Given the description of an element on the screen output the (x, y) to click on. 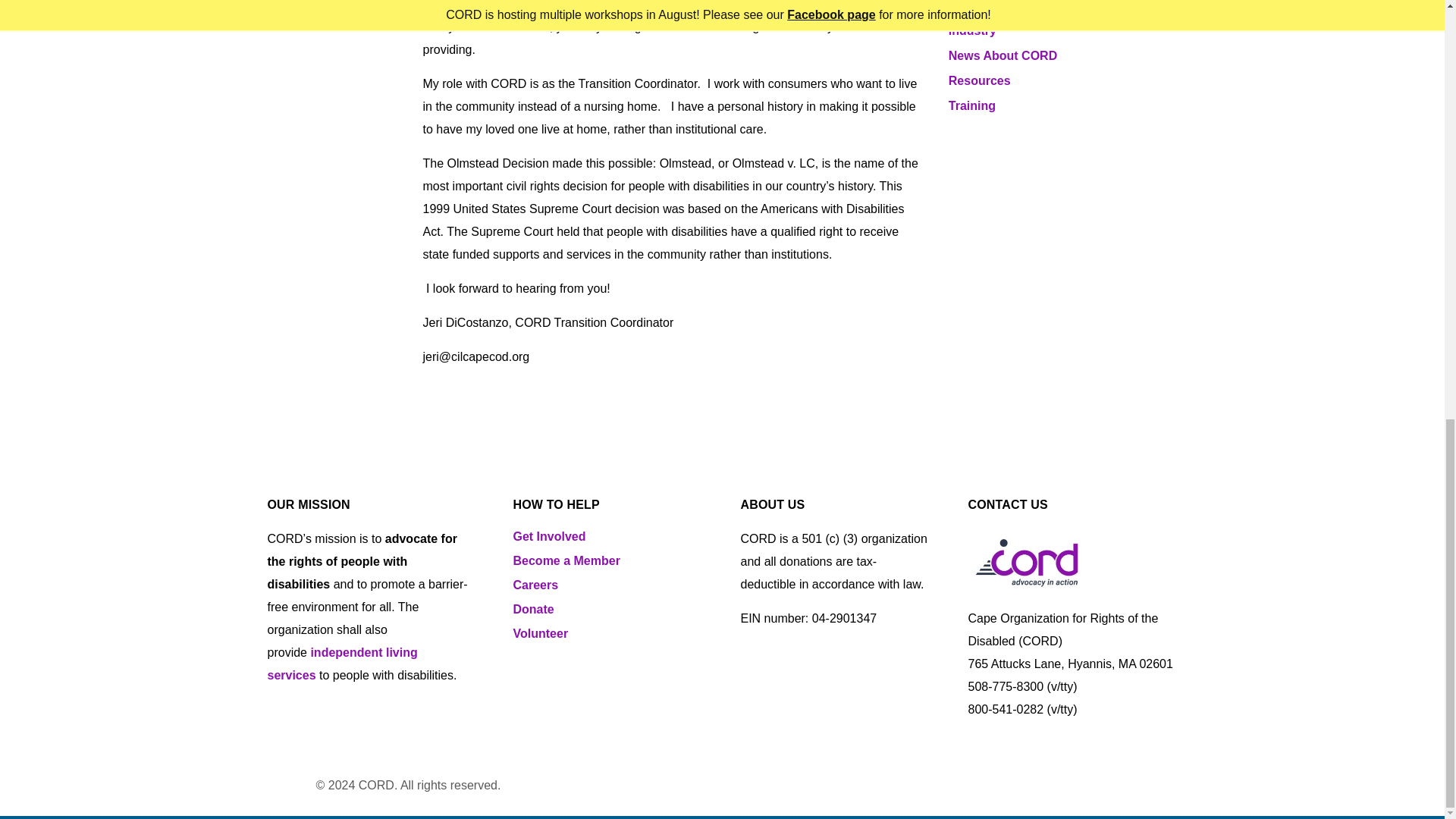
cord logo tagline (1026, 561)
Disability Services Website built by 3 Media Web (299, 784)
Report a Website Accessibility Issue (535, 784)
